Given the description of an element on the screen output the (x, y) to click on. 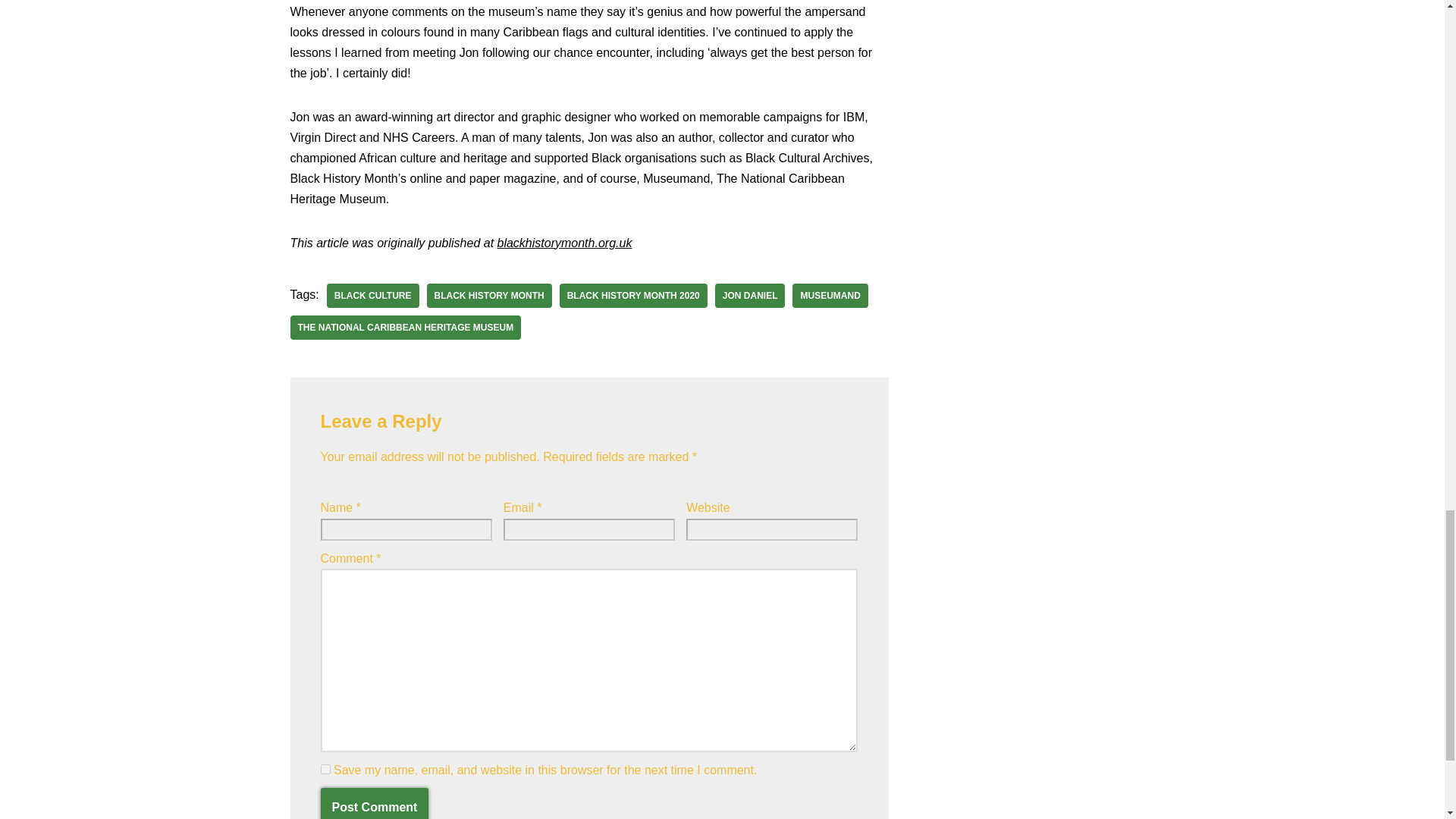
MUSEUMAND (829, 295)
blackhistorymonth.org.uk (564, 242)
BLACK CULTURE (372, 295)
Black History Month 2020 (633, 295)
Post Comment (374, 803)
Black History Month (488, 295)
Museumand (829, 295)
Jon Daniel (750, 295)
BLACK HISTORY MONTH 2020 (633, 295)
JON DANIEL (750, 295)
